Given the description of an element on the screen output the (x, y) to click on. 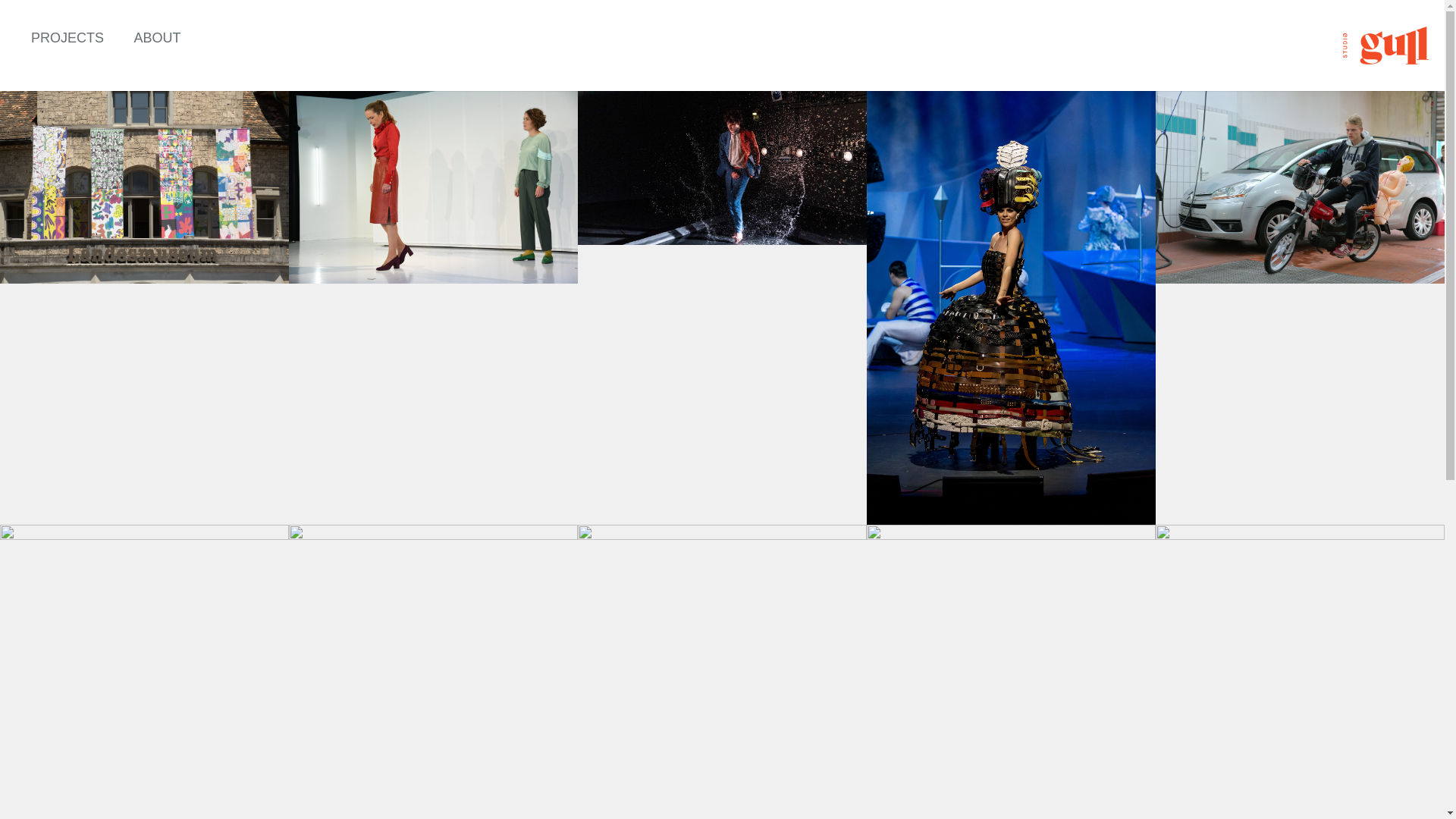
PROJECTS Element type: text (67, 37)
ABOUT Element type: text (157, 37)
